Given the description of an element on the screen output the (x, y) to click on. 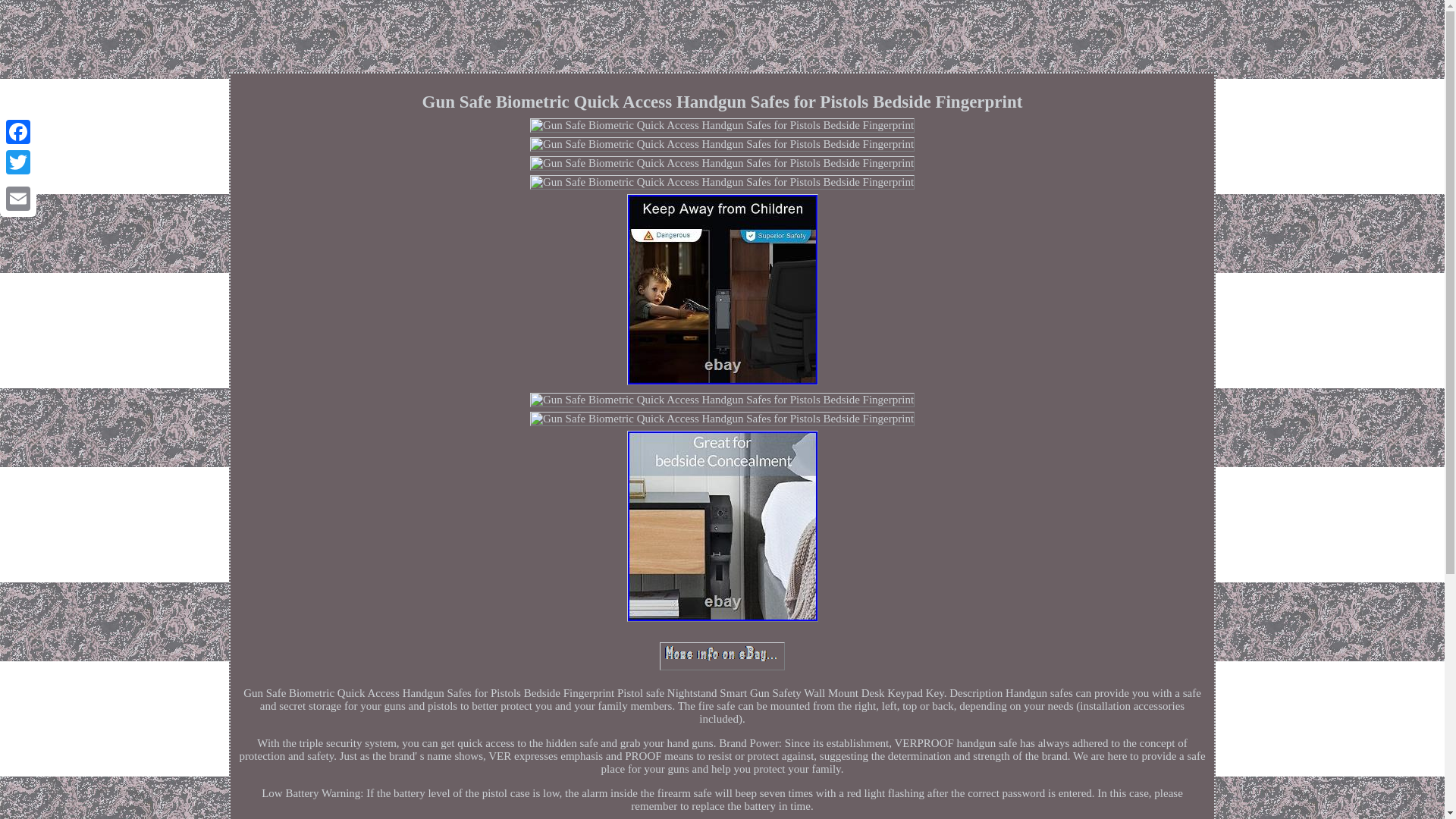
Email (17, 198)
